Given the description of an element on the screen output the (x, y) to click on. 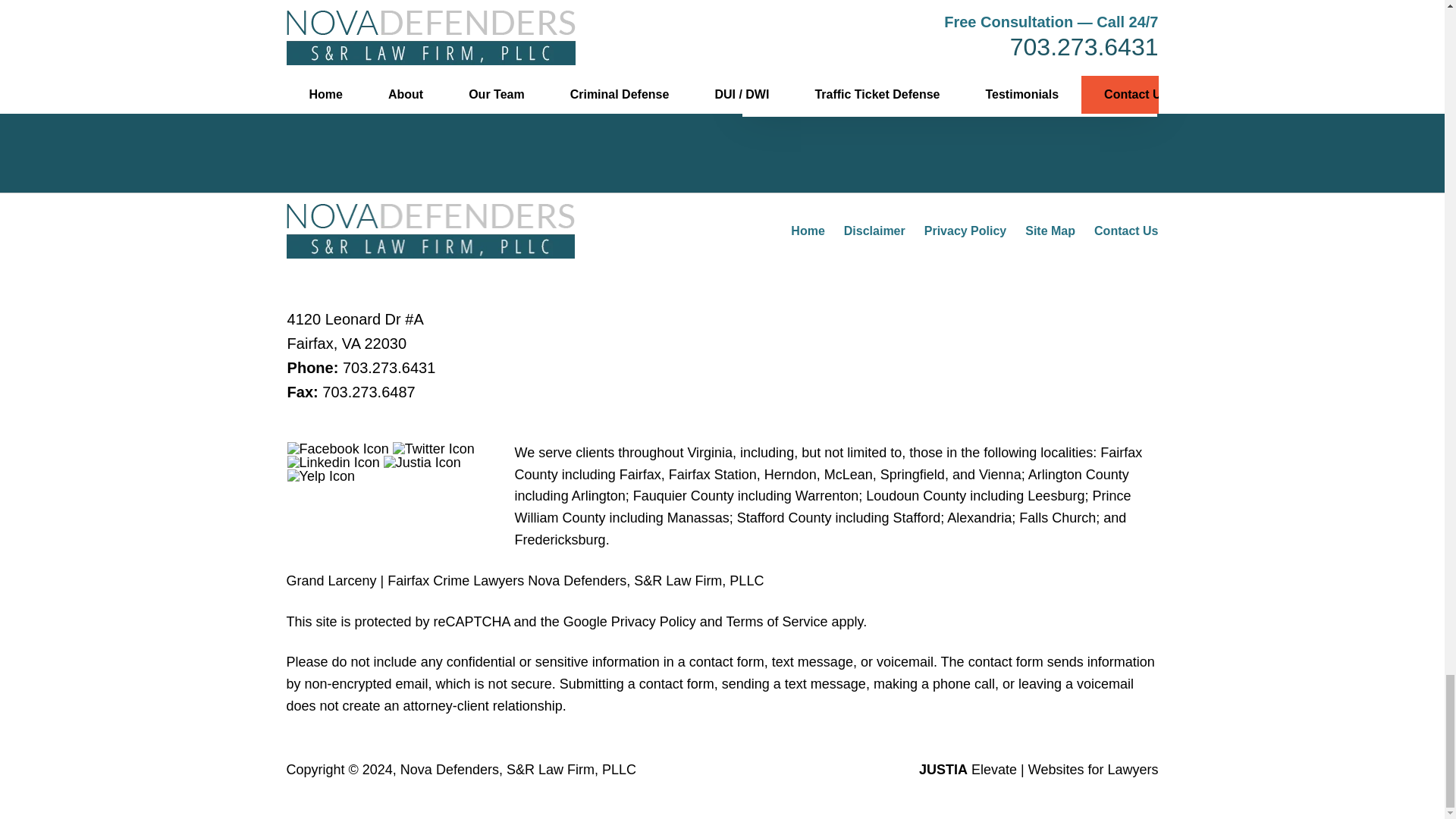
Twitter (433, 448)
Yelp (320, 476)
Linkedin (333, 462)
Justia (422, 462)
Facebook (337, 448)
